Given the description of an element on the screen output the (x, y) to click on. 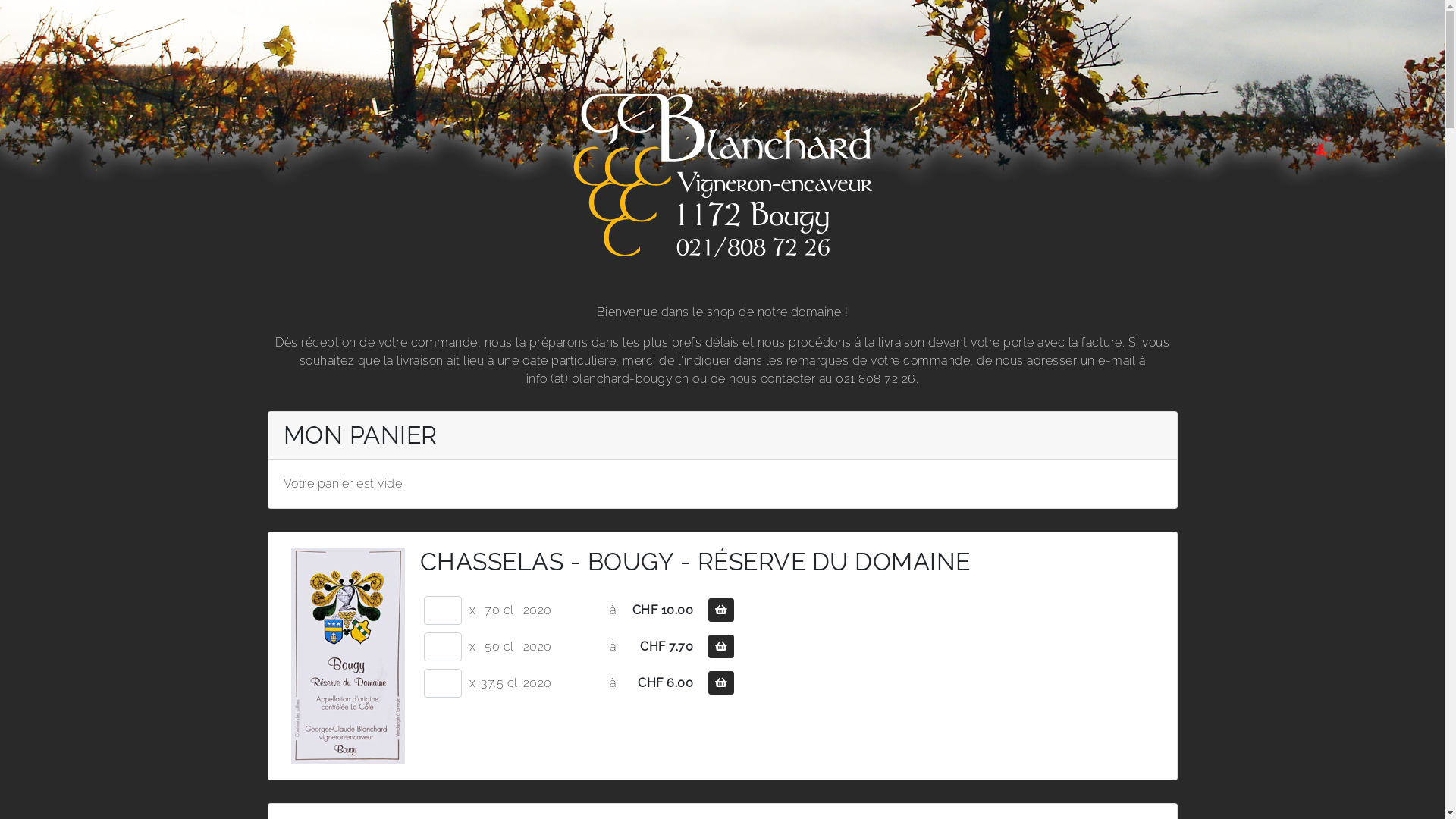
Logo de Blanchard Bougy Element type: hover (721, 175)
Ajouter au panier Element type: hover (721, 609)
Ajouter au panier Element type: hover (721, 682)
info (at) blanchard-bougy.ch Element type: text (607, 378)
Ajouter au panier Element type: hover (721, 646)
